Given the description of an element on the screen output the (x, y) to click on. 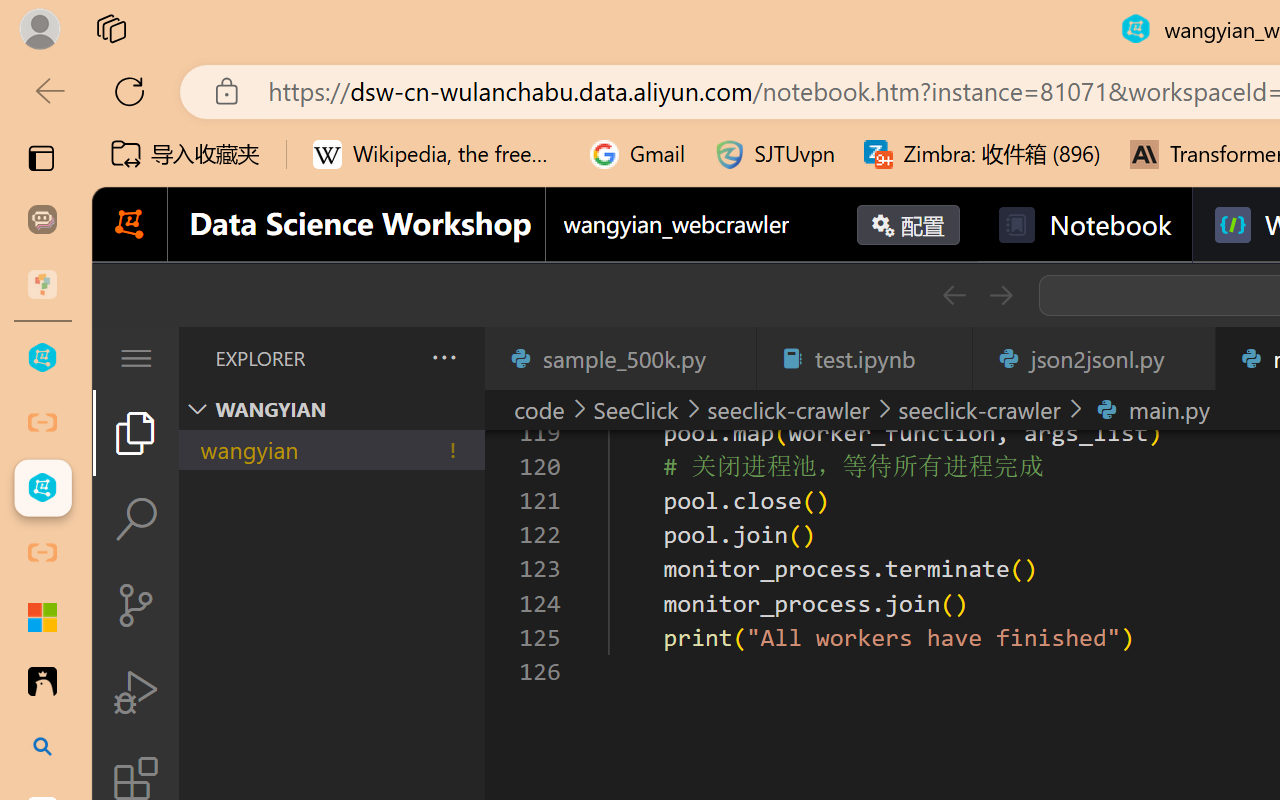
wangyian_dsw - DSW (42, 357)
Source Control (Ctrl+Shift+G) (135, 604)
Application Menu (135, 358)
Go Forward (Alt+RightArrow) (1000, 295)
wangyian_webcrawler - DSW (42, 487)
Explorer actions (391, 358)
Class: menubar compact overflow-menu-only (135, 358)
Wikipedia, the free encyclopedia (437, 154)
Views and More Actions... (442, 357)
SJTUvpn (774, 154)
